Given the description of an element on the screen output the (x, y) to click on. 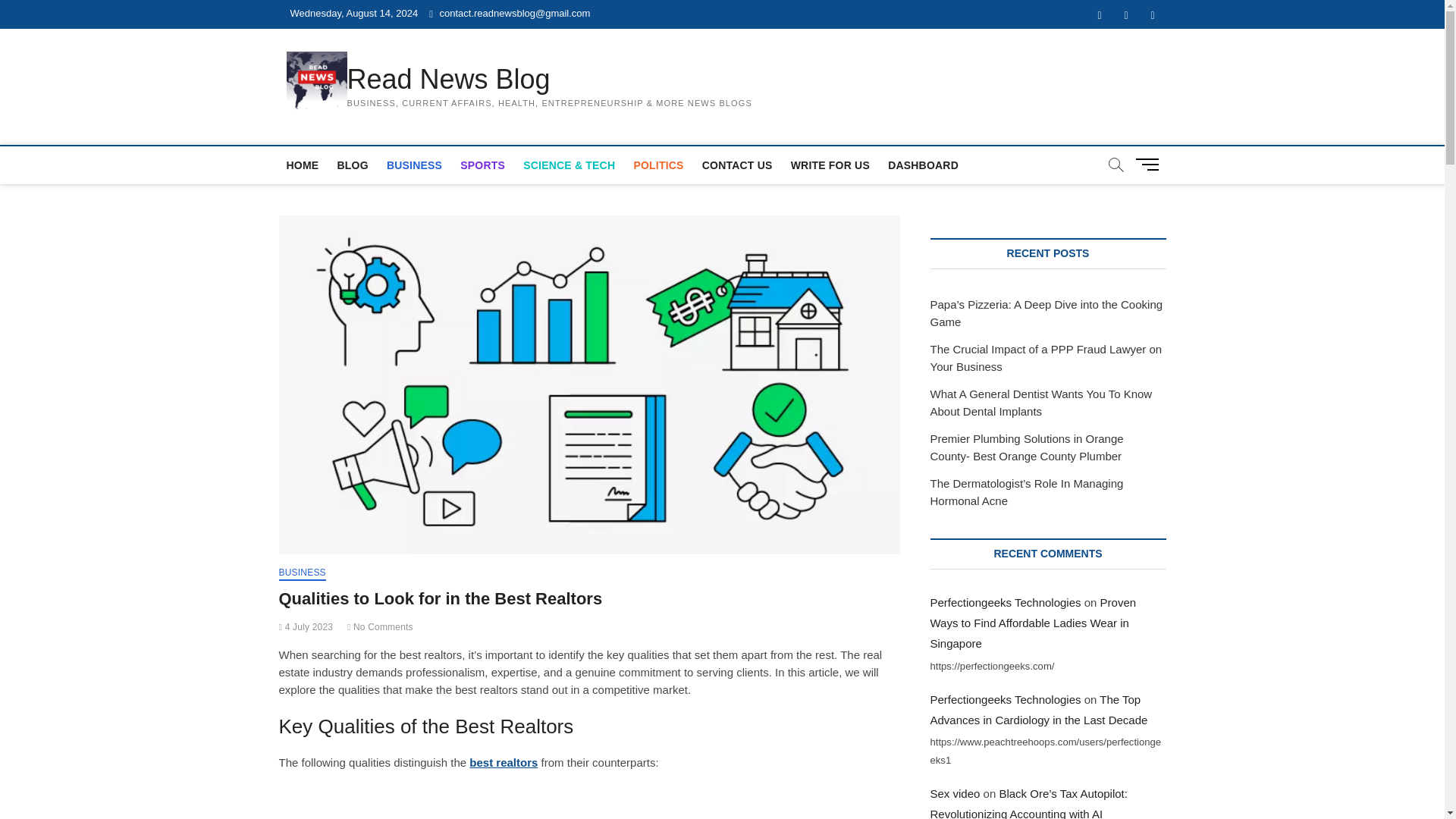
Twitter (1126, 15)
WRITE FOR US (830, 165)
SPORTS (482, 165)
DASHBOARD (923, 165)
Read News Blog (549, 79)
Mail Us (509, 12)
Menu Button (1150, 164)
Read News Blog (549, 79)
HOME (302, 165)
BUSINESS (413, 165)
